Given the description of an element on the screen output the (x, y) to click on. 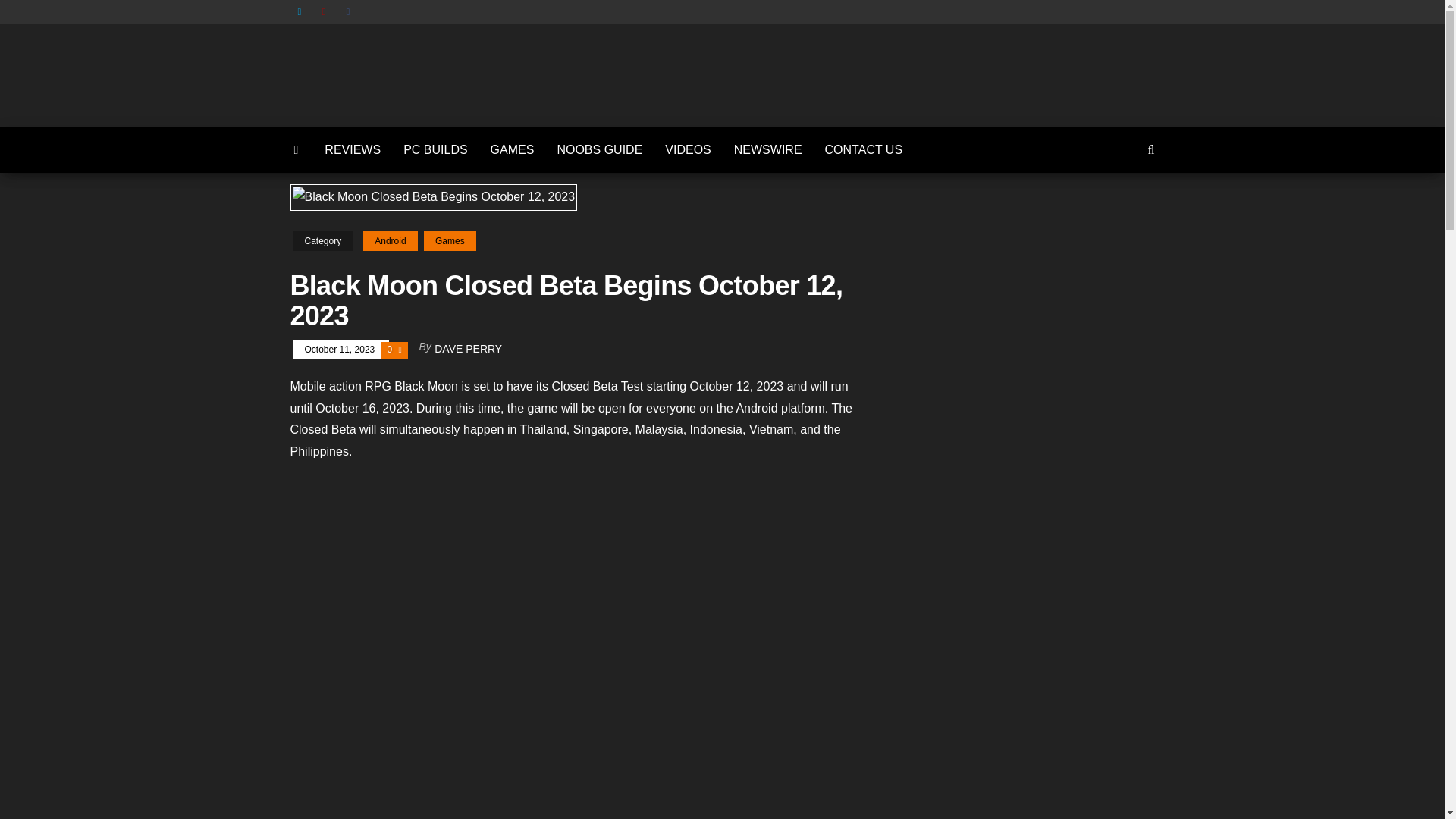
Games (512, 149)
Reviews (352, 149)
Contact Us (863, 149)
CONTACT US (863, 149)
NOOBS GUIDE (598, 149)
Urbantechnoobs (786, 89)
TWITTER (301, 12)
Videos (687, 149)
YOUTUBE (325, 12)
DAVE PERRY (467, 348)
NEWSWIRE (767, 149)
TWITTER (301, 12)
Games (449, 240)
YOUTUBE (325, 12)
